Given the description of an element on the screen output the (x, y) to click on. 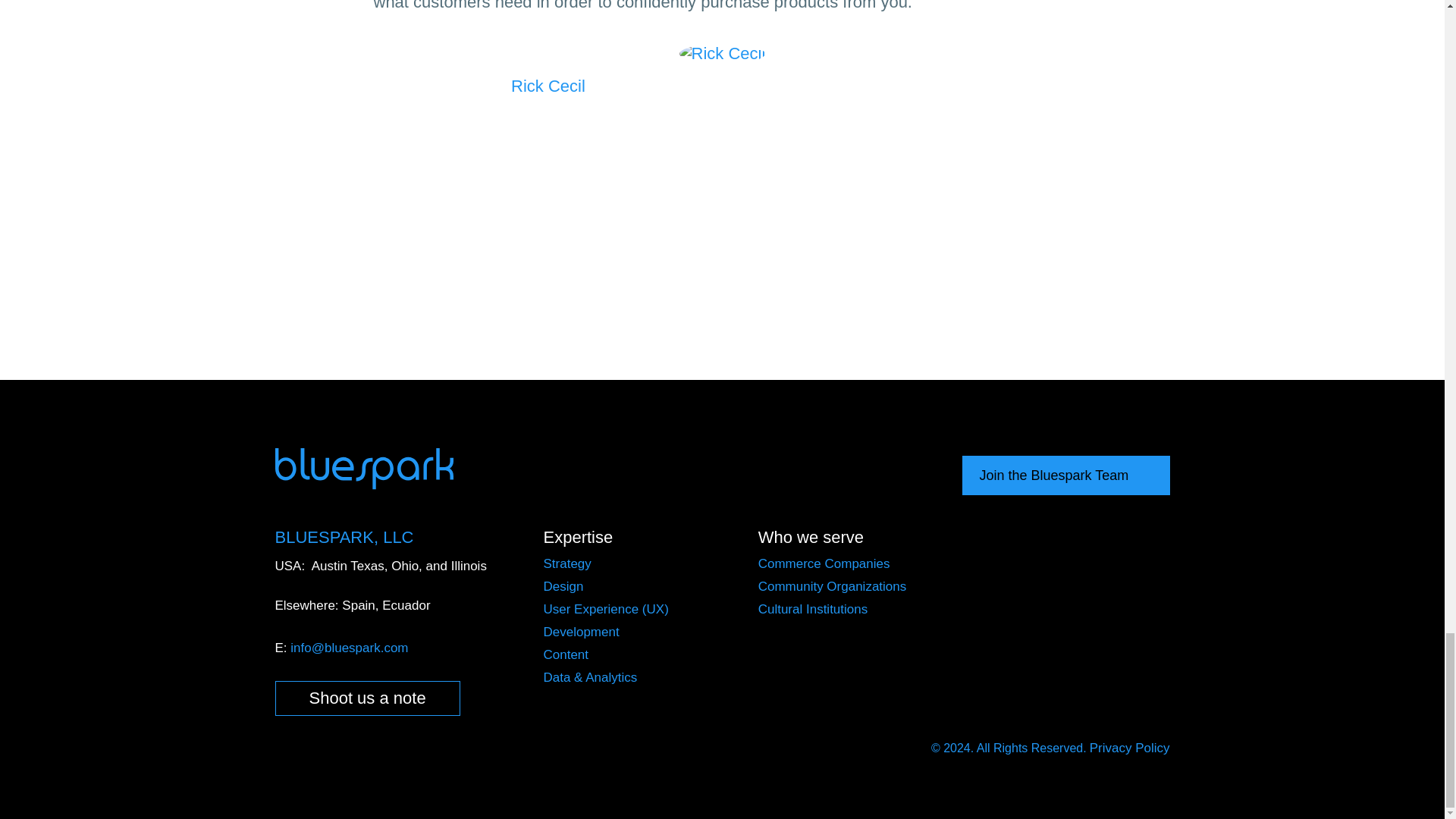
Rick Cecil (548, 85)
Twitter (892, 476)
Strategy (567, 563)
Shoot us a note (367, 697)
Commerce Companies (823, 563)
Join the Bluespark Team (1064, 475)
Linkedin (846, 476)
Instagram (802, 476)
Development (580, 631)
Design (563, 586)
